Given the description of an element on the screen output the (x, y) to click on. 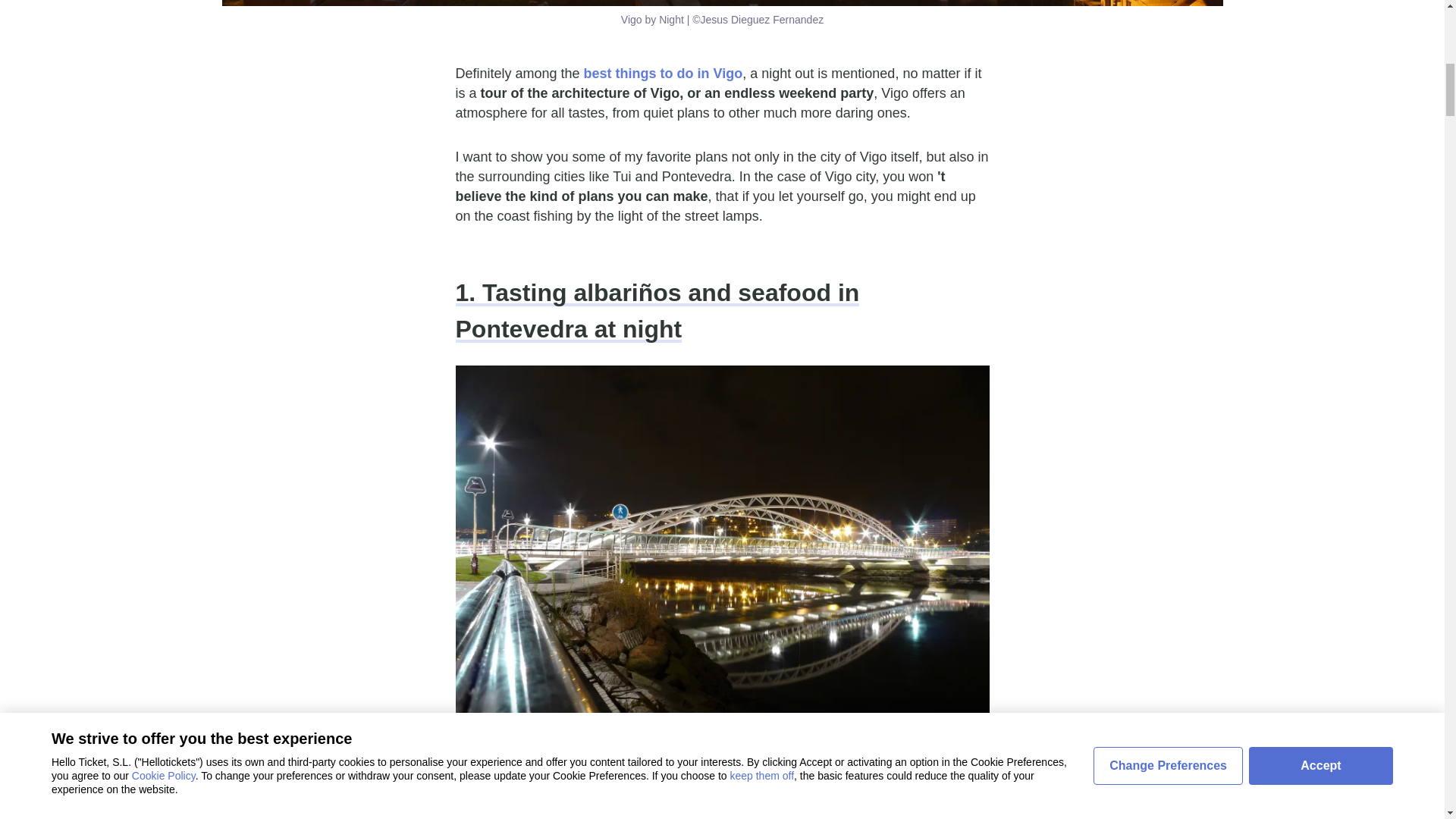
best things to do in Vigo (662, 73)
